Given the description of an element on the screen output the (x, y) to click on. 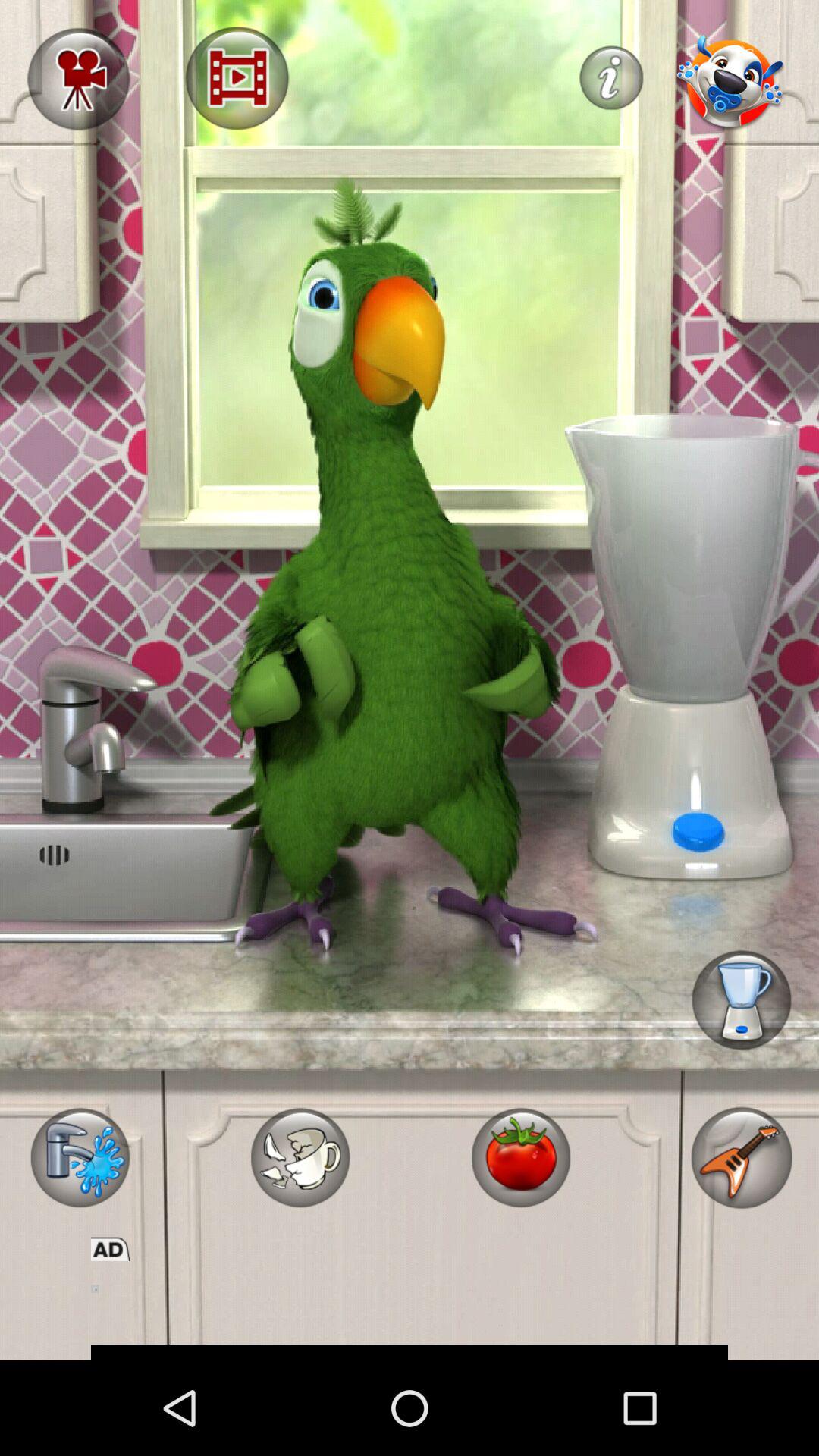
outline page (409, 1310)
